Given the description of an element on the screen output the (x, y) to click on. 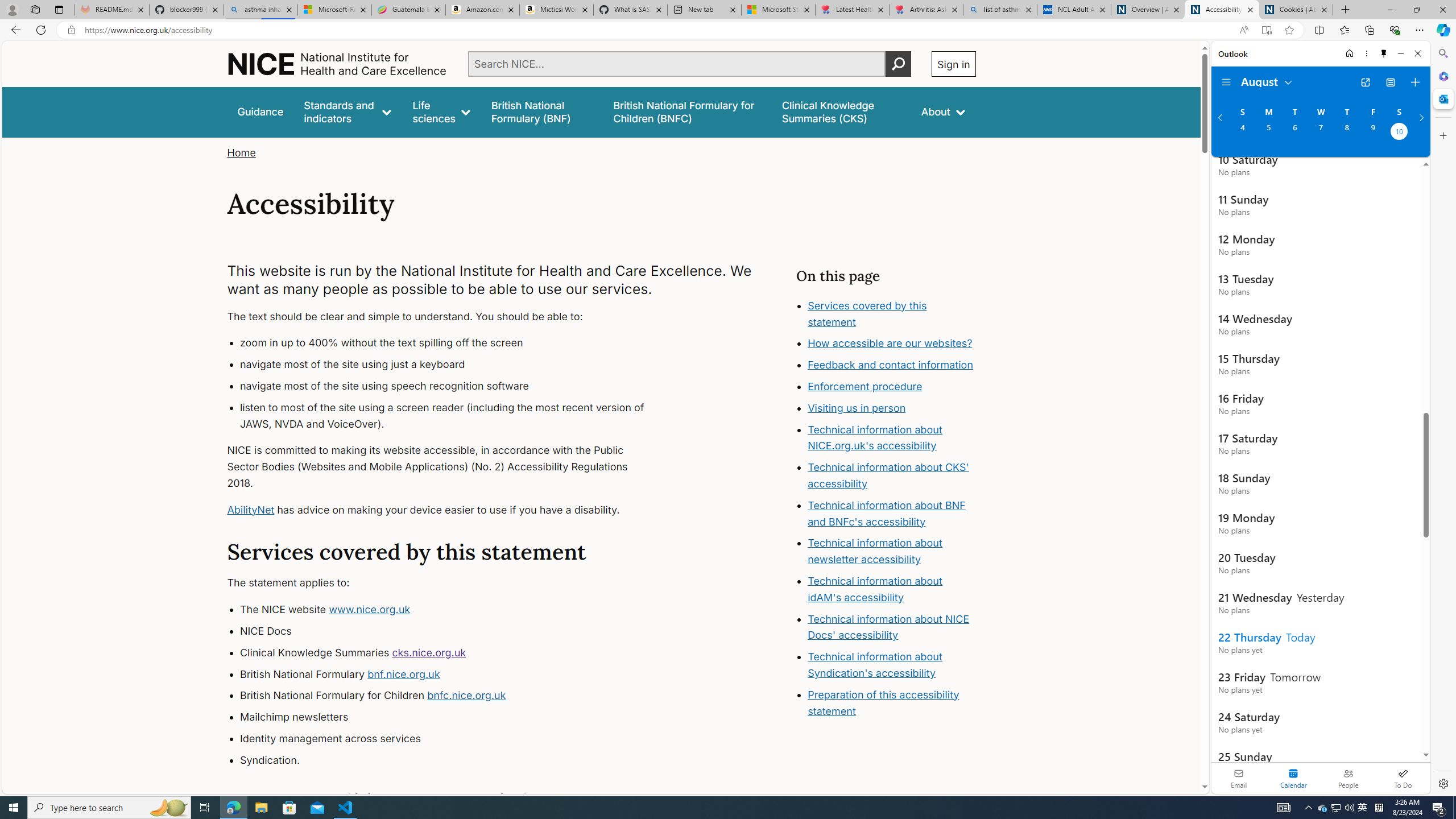
Identity management across services (452, 738)
Visiting us in person (856, 407)
AbilityNet (251, 509)
Selected calendar module. Date today is 22 (1293, 777)
Sunday, August 4, 2024.  (1242, 132)
Clinical Knowledge Summaries cks.nice.org.uk (452, 652)
August (1267, 80)
